Given the description of an element on the screen output the (x, y) to click on. 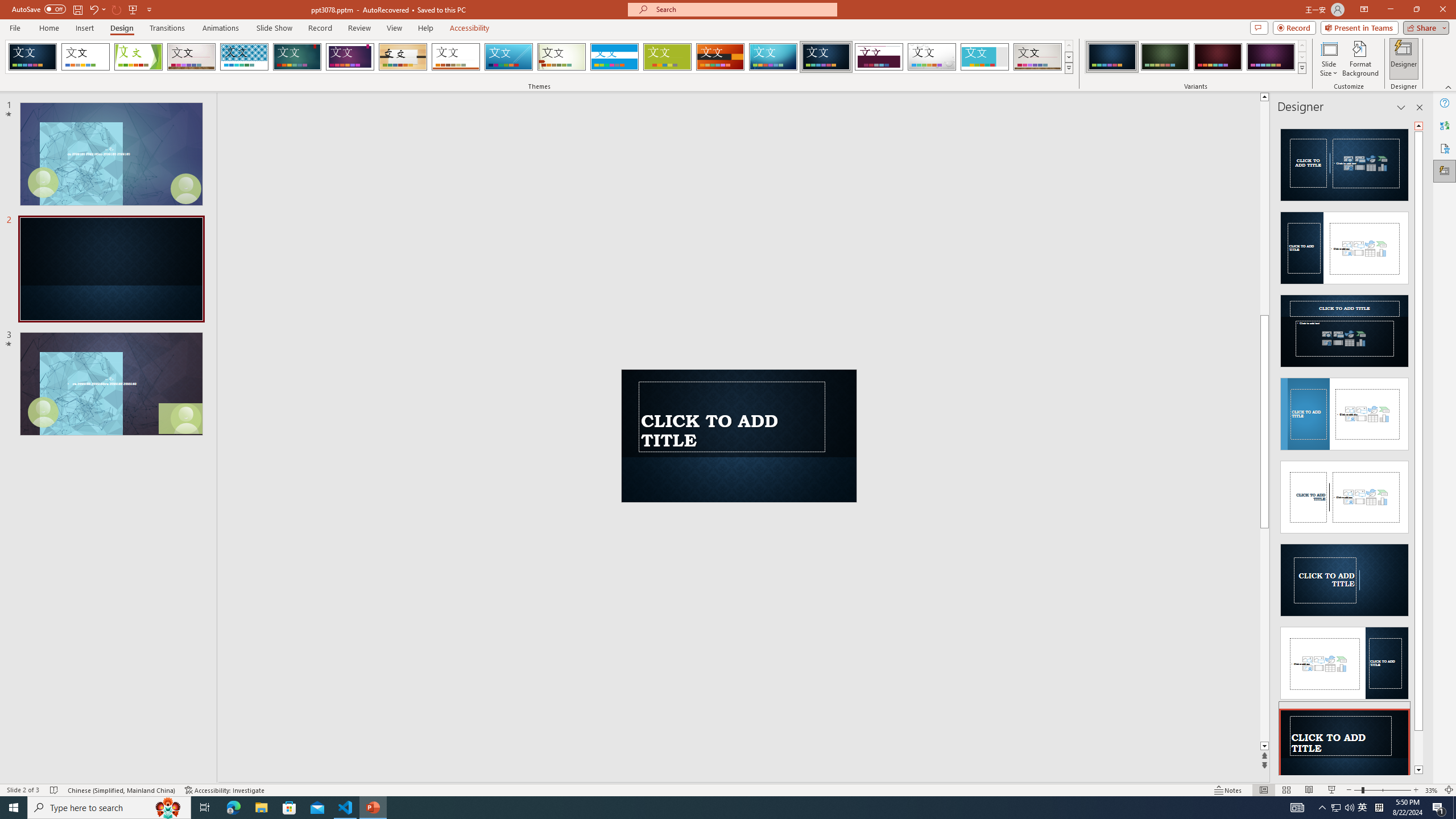
Damask Variant 2 (1164, 56)
Damask Variant 4 (1270, 56)
Droplet (931, 56)
